Given the description of an element on the screen output the (x, y) to click on. 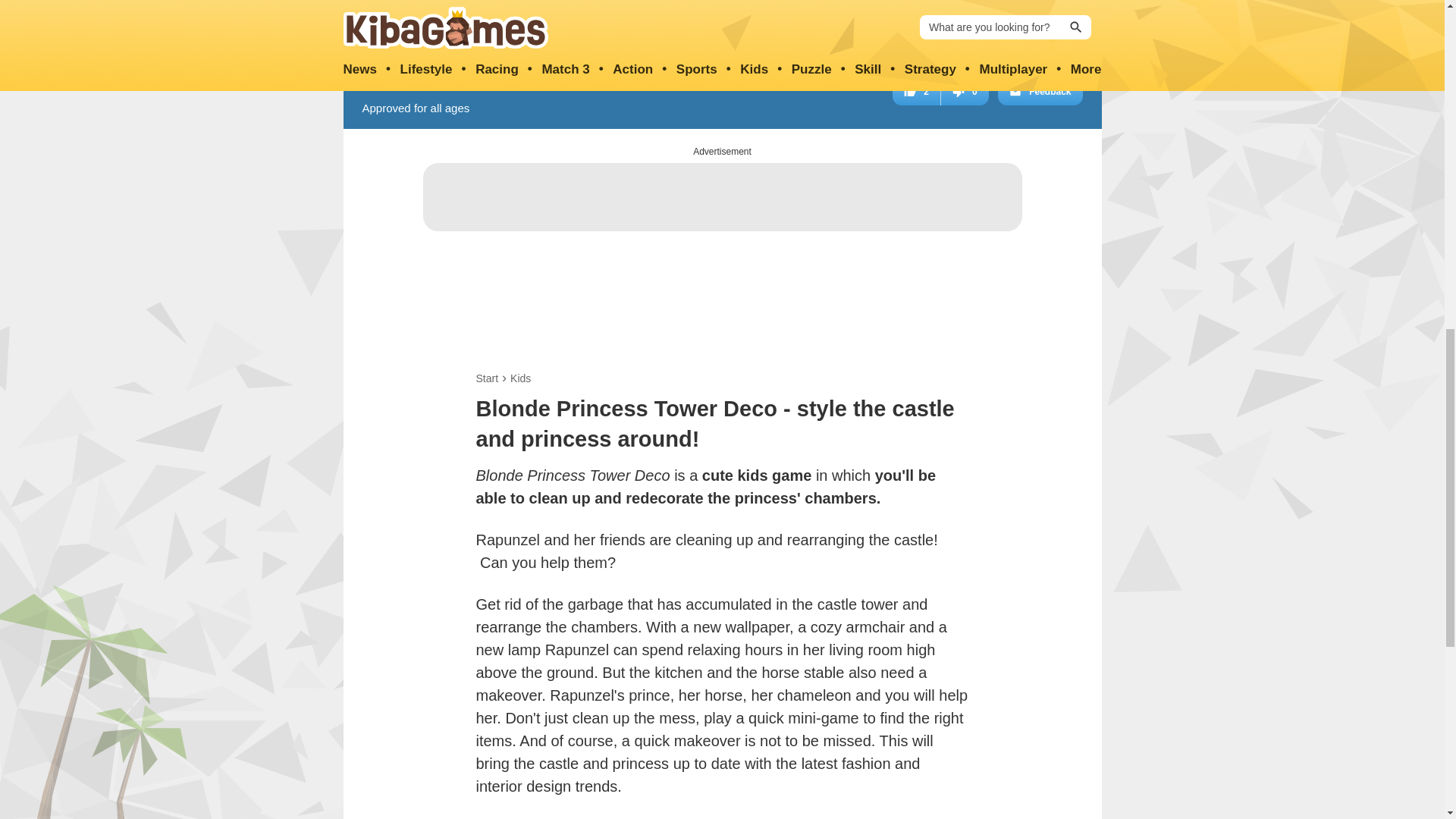
Avatar Master: Fix Up Face (582, 18)
Like (916, 91)
Dislike (964, 91)
0 (964, 91)
Start (487, 378)
Bubbly Lab (675, 18)
Kids (521, 378)
Organizer Master (489, 18)
Zoo Collapse (769, 18)
Cat Sorter Puzzle (954, 18)
Kids (521, 378)
2 (916, 91)
College Girl Coloring (861, 18)
Feedback (1039, 91)
Hungry Corgi: Cute Music Game (1047, 18)
